Given the description of an element on the screen output the (x, y) to click on. 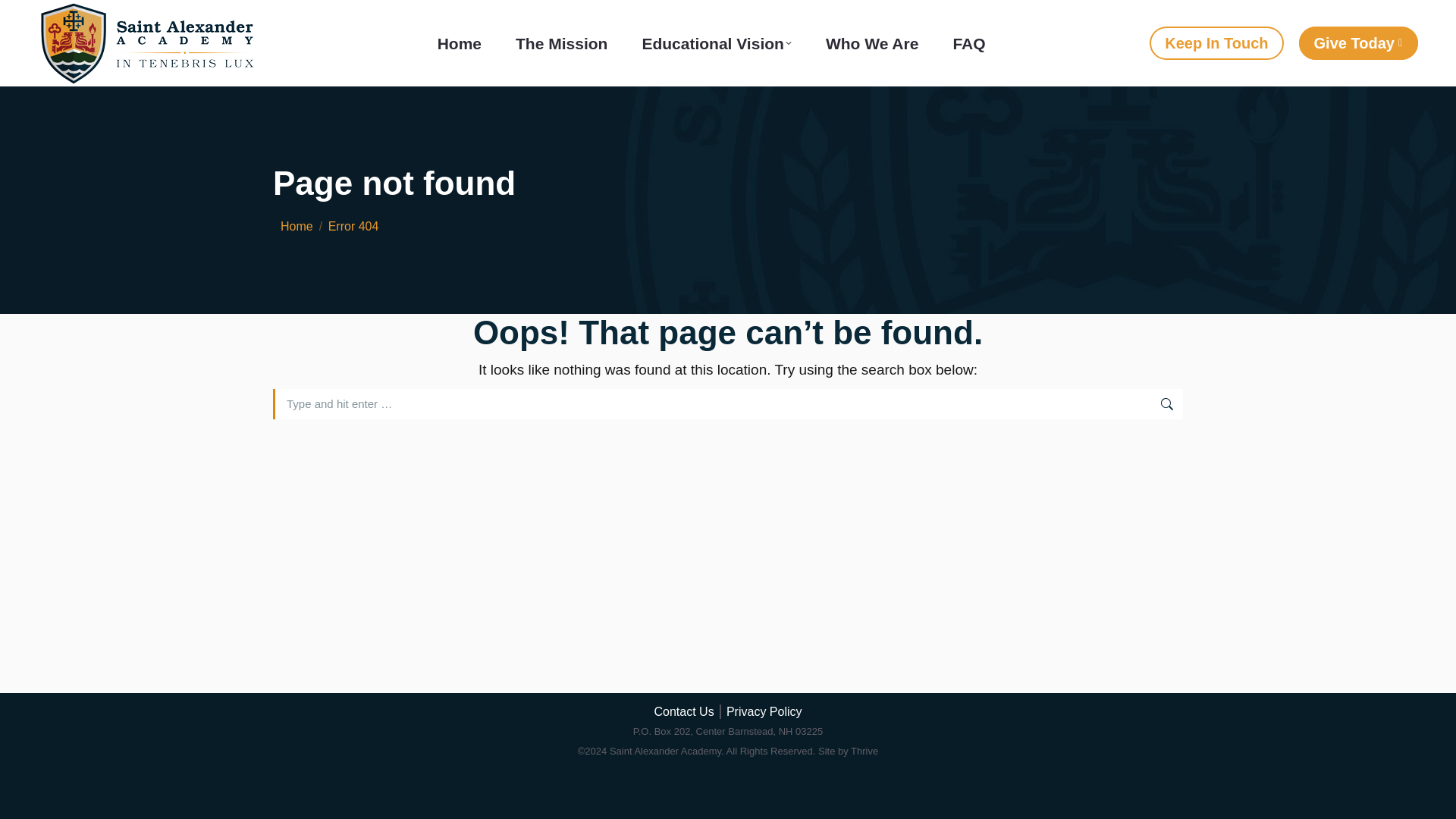
Keep In Touch (1216, 42)
FAQ (967, 42)
Home (297, 226)
Educational Vision (716, 42)
Home (459, 42)
Home (297, 226)
Who We Are (871, 42)
Go! (1208, 406)
The Mission (560, 42)
Go! (1208, 406)
Go! (1208, 406)
Give Today (1358, 42)
